Given the description of an element on the screen output the (x, y) to click on. 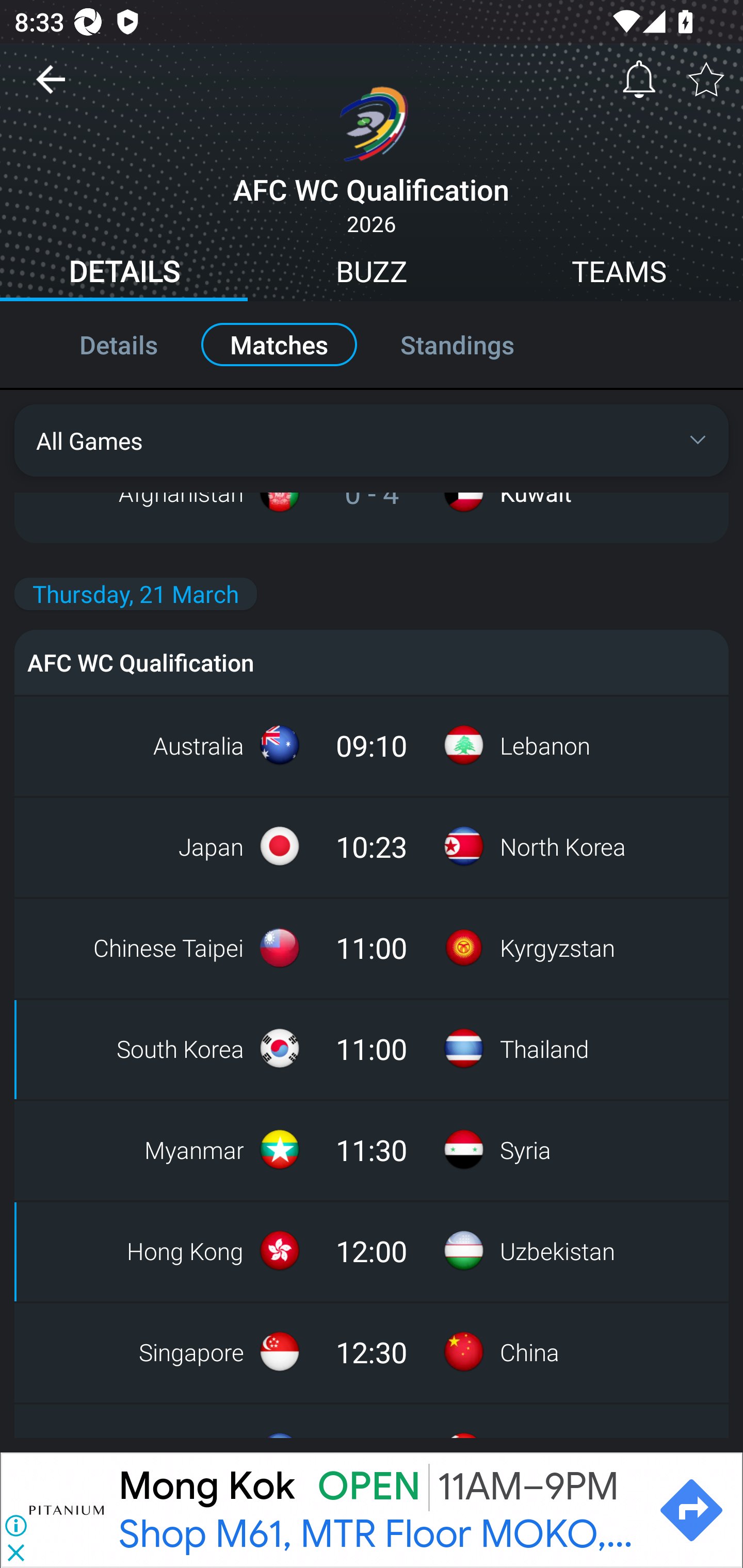
Navigate up (50, 86)
DETAILS (123, 274)
BUZZ (371, 274)
TEAMS (619, 274)
Details (96, 344)
Standings (478, 344)
All Games (371, 440)
AFC WC Qualification (371, 662)
Australia 09:10 Lebanon (371, 745)
Japan 10:23 North Korea (371, 846)
Chinese Taipei 11:00 Kyrgyzstan (371, 947)
South Korea 11:00 Thailand (371, 1048)
Myanmar 11:30 Syria (371, 1149)
Hong Kong 12:00 Uzbekistan (371, 1250)
Singapore 12:30 China (371, 1351)
超瘋狂預購 48小時 Pitanium MOKO Pitanium MOKO (379, 1509)
